Given the description of an element on the screen output the (x, y) to click on. 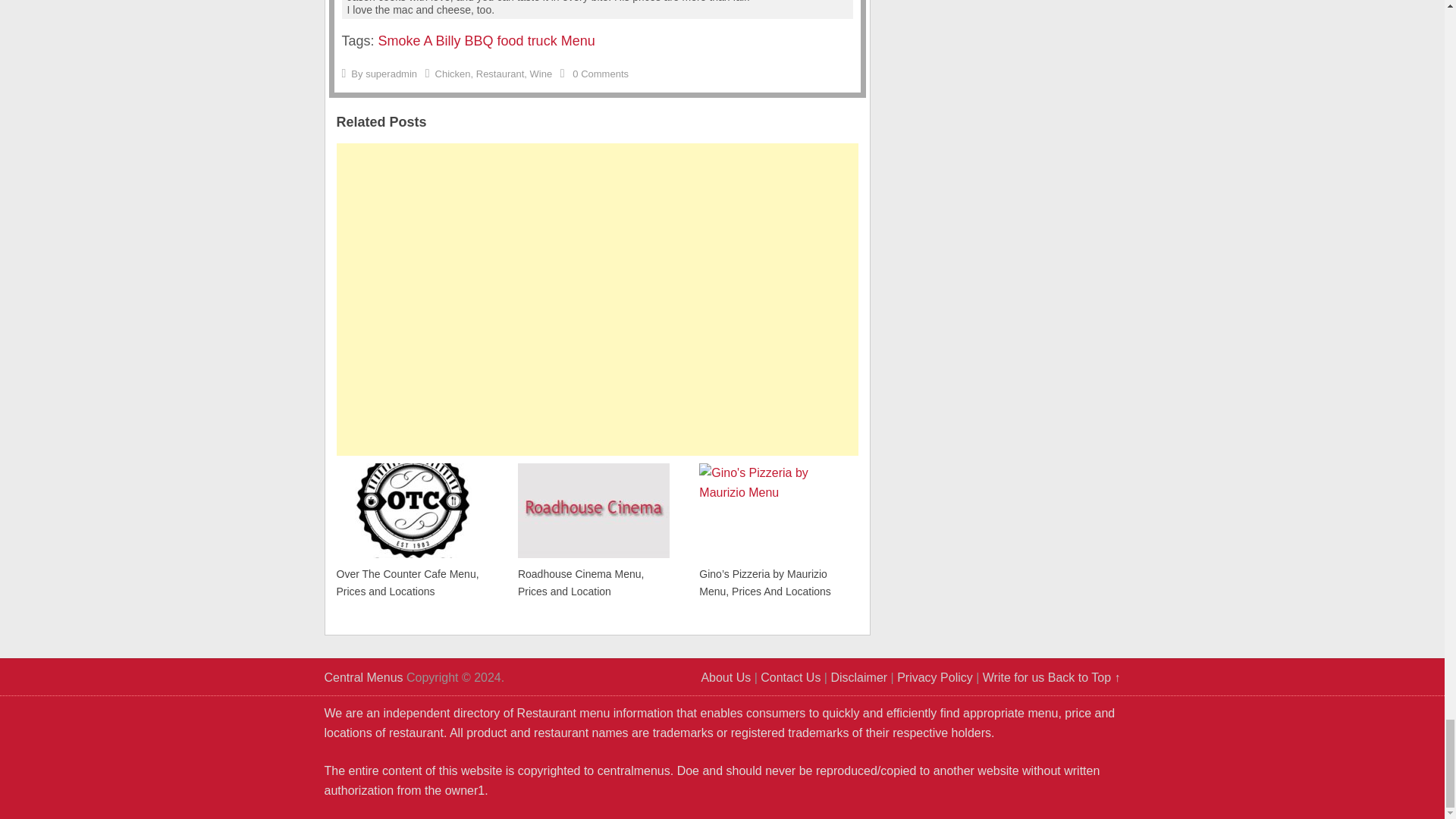
Posts by superadmin (390, 73)
Wine (541, 73)
Over The Counter Cafe Menu, Prices and Locations (411, 529)
Roadhouse Cinema Menu, Prices and Location (593, 529)
Roadhouse Cinema Menu, Prices and Location (593, 529)
0 Comments (600, 73)
About Us (725, 676)
Chicken (452, 73)
Restaurant (500, 73)
Over The Counter Cafe Menu, Prices and Locations (411, 529)
